Given the description of an element on the screen output the (x, y) to click on. 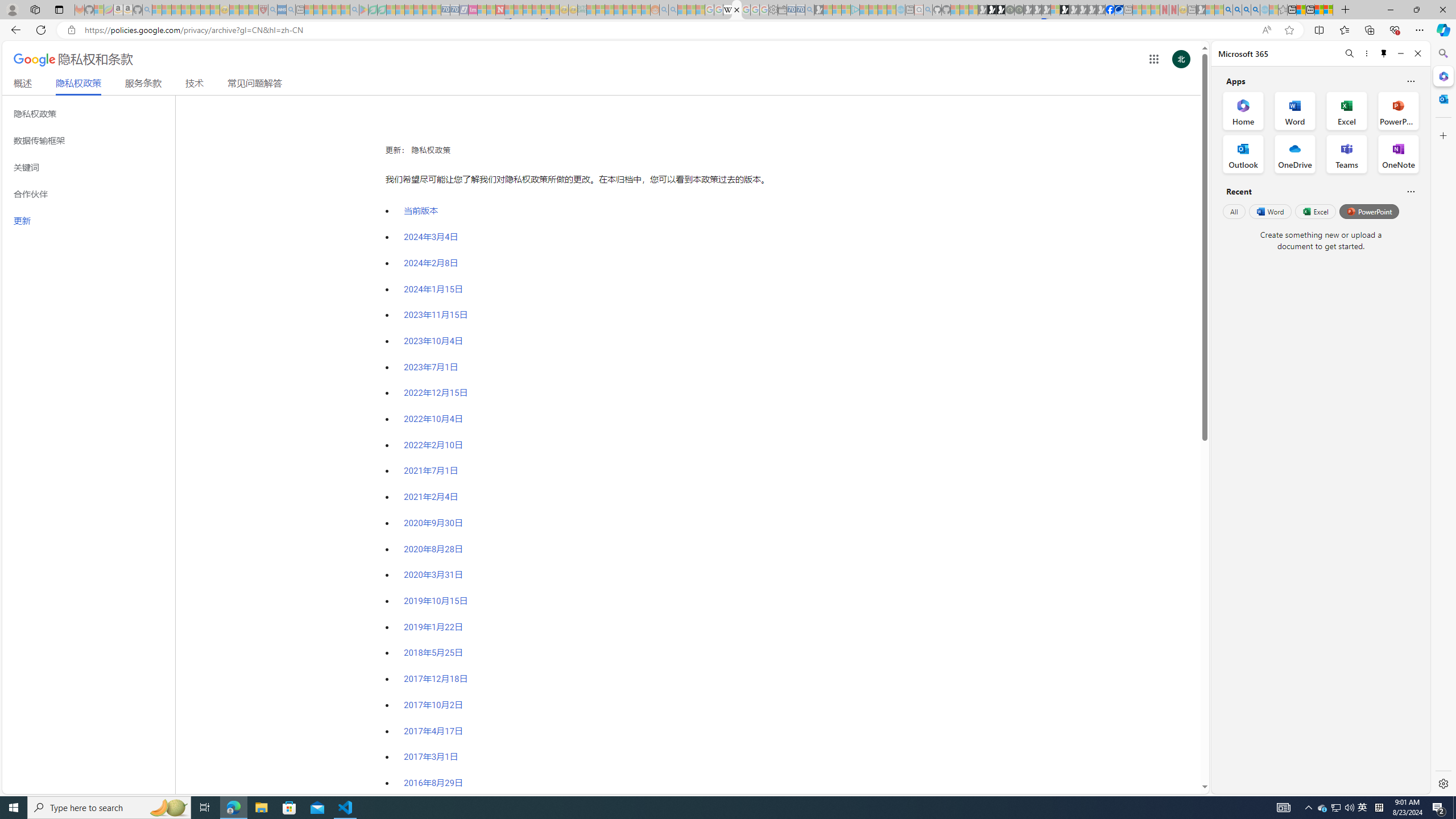
Sign in to your account - Sleeping (1054, 9)
